Given the description of an element on the screen output the (x, y) to click on. 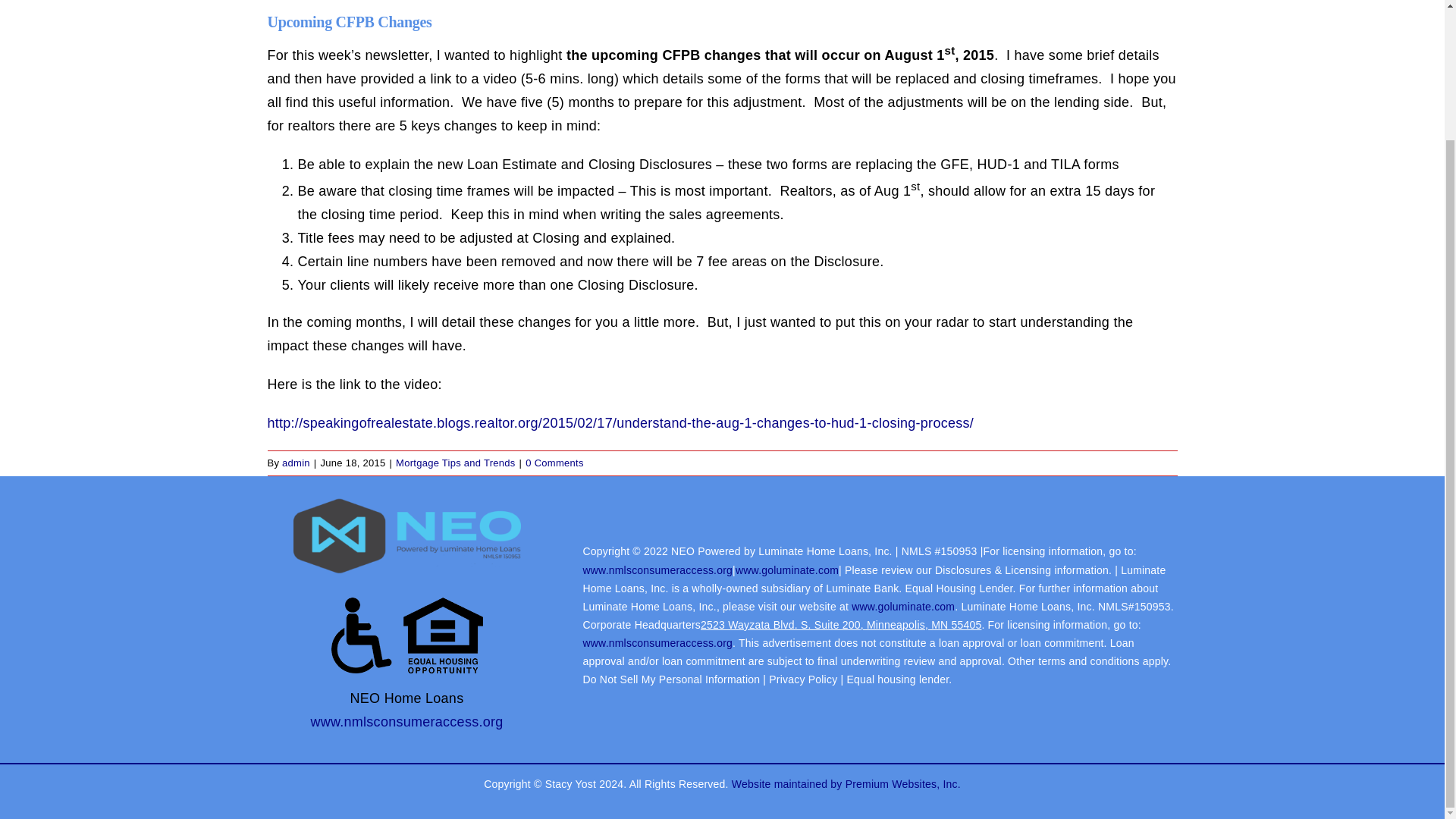
Equal Housing Leander (405, 635)
Website maintained by Premium Websites, Inc. (846, 784)
www.nmlsconsumeraccess.org (657, 643)
admin (296, 462)
0 Comments (554, 462)
www.nmlsconsumeraccess.org (406, 721)
Posts by admin (296, 462)
www.nmlsconsumeraccess.org (657, 570)
Mortgage Tips and Trends (455, 462)
www.goluminate.com (903, 606)
www.goluminate.com (786, 570)
